Given the description of an element on the screen output the (x, y) to click on. 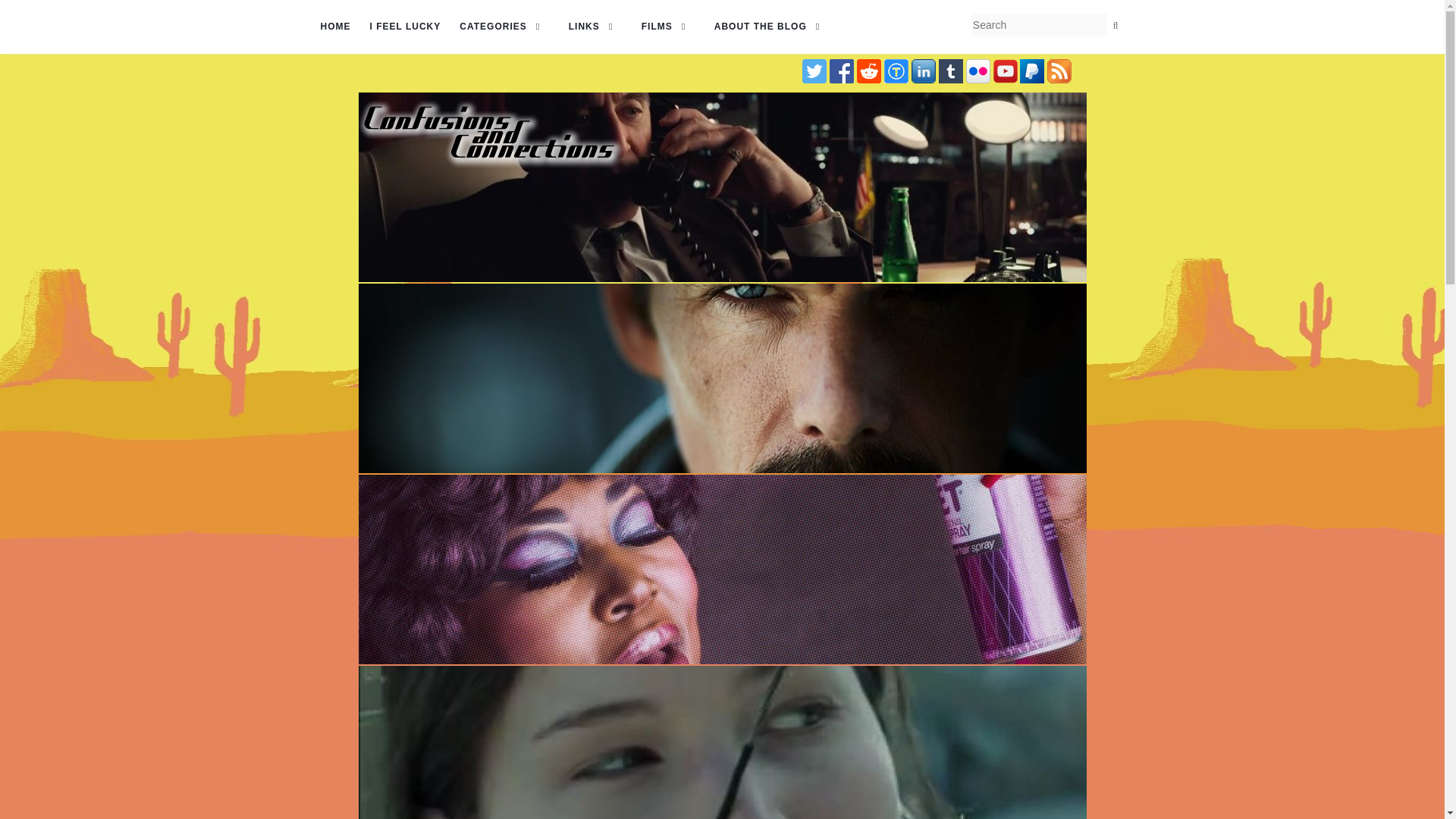
LINKS (596, 27)
I FEEL LUCKY (405, 27)
ABOUT THE BLOG (771, 27)
I feel lucky (405, 27)
Categories (504, 27)
FILMS (668, 27)
CATEGORIES (504, 27)
